Given the description of an element on the screen output the (x, y) to click on. 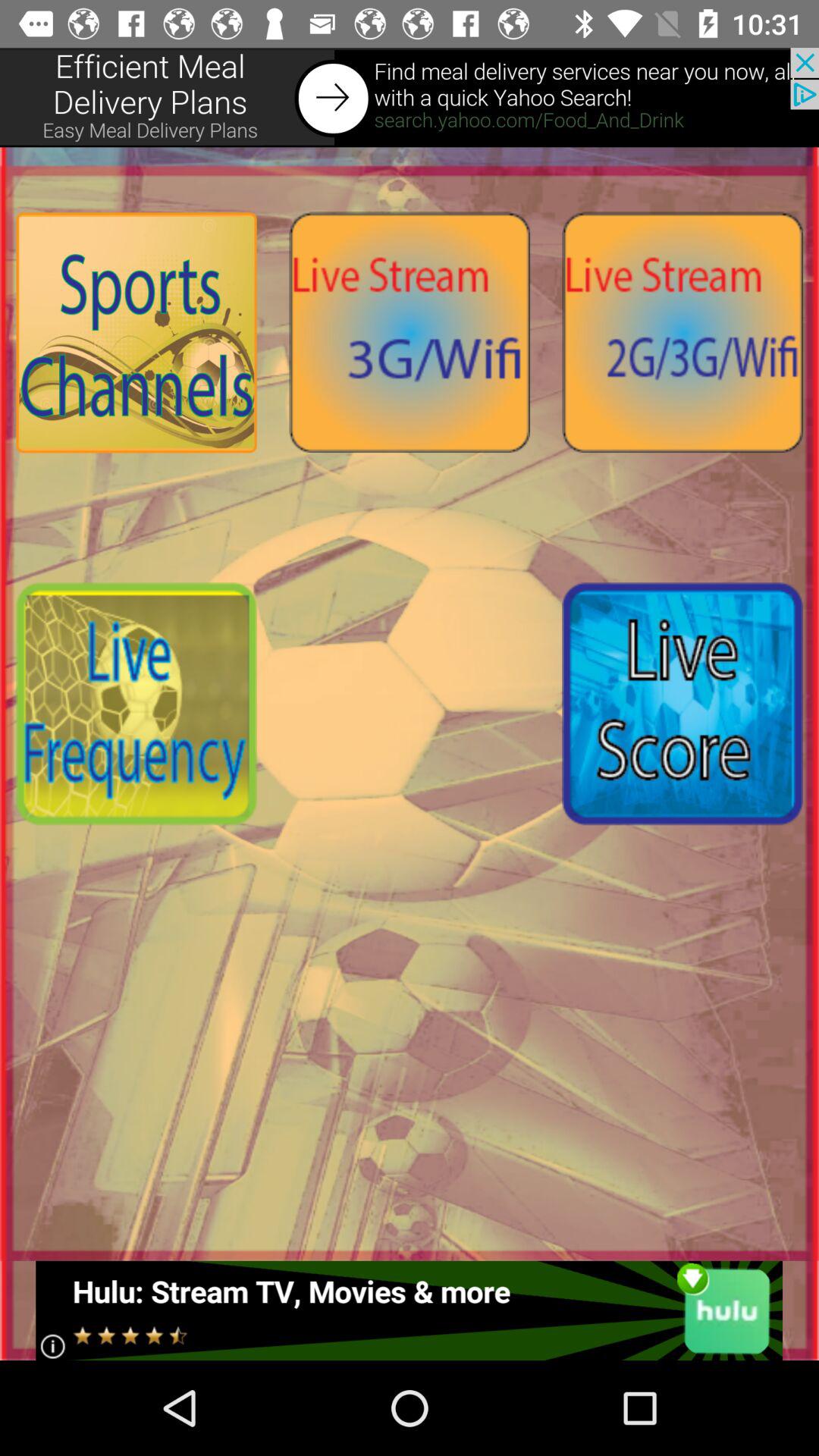
go to live stream (682, 332)
